Given the description of an element on the screen output the (x, y) to click on. 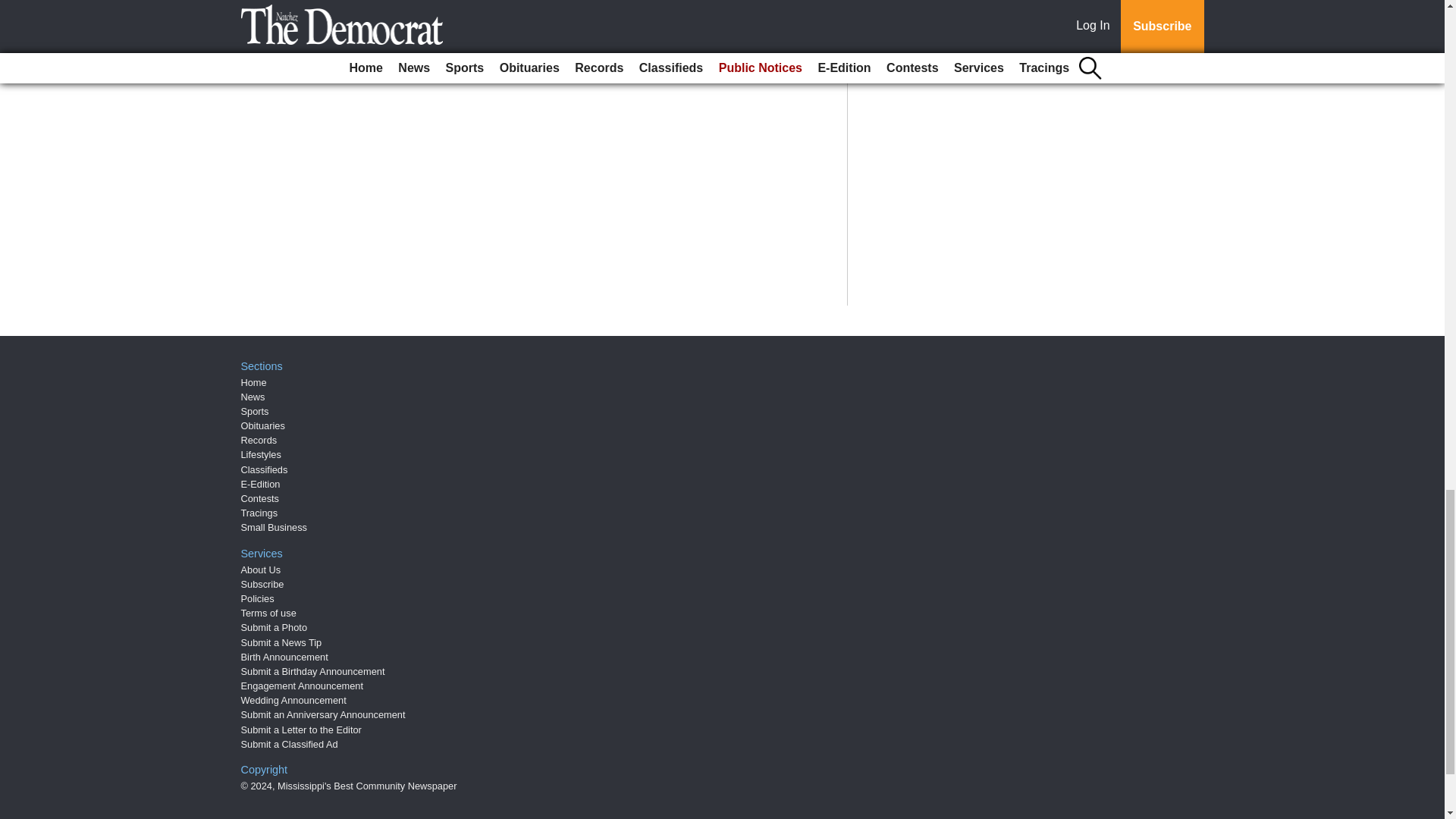
Live updates: Centreville beats ACCS for state championship (583, 25)
Print Article (384, 74)
Live updates: Centreville beats ACCS for state championship (583, 25)
